Given the description of an element on the screen output the (x, y) to click on. 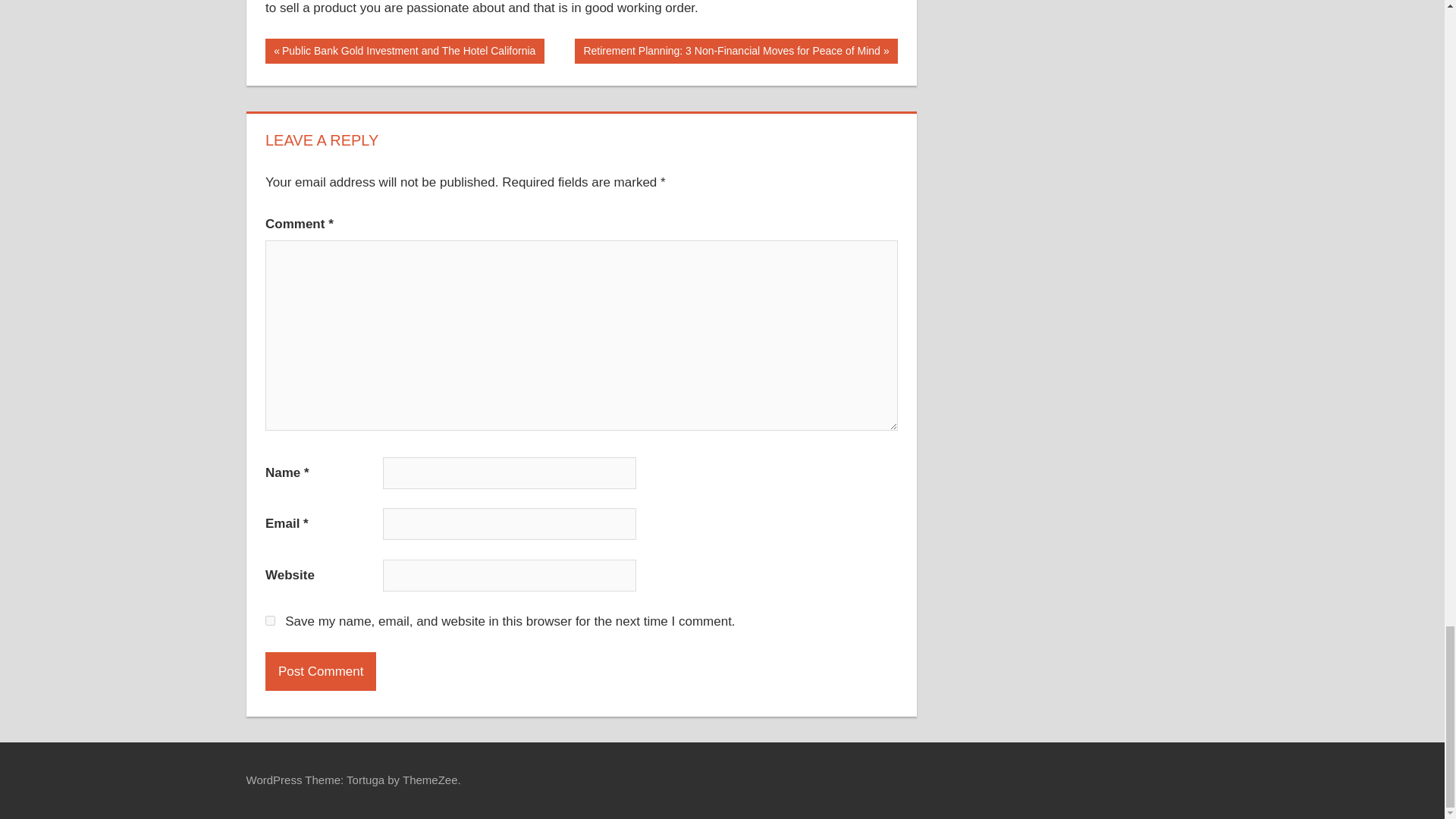
Post Comment (319, 670)
Post Comment (319, 670)
yes (269, 620)
